Given the description of an element on the screen output the (x, y) to click on. 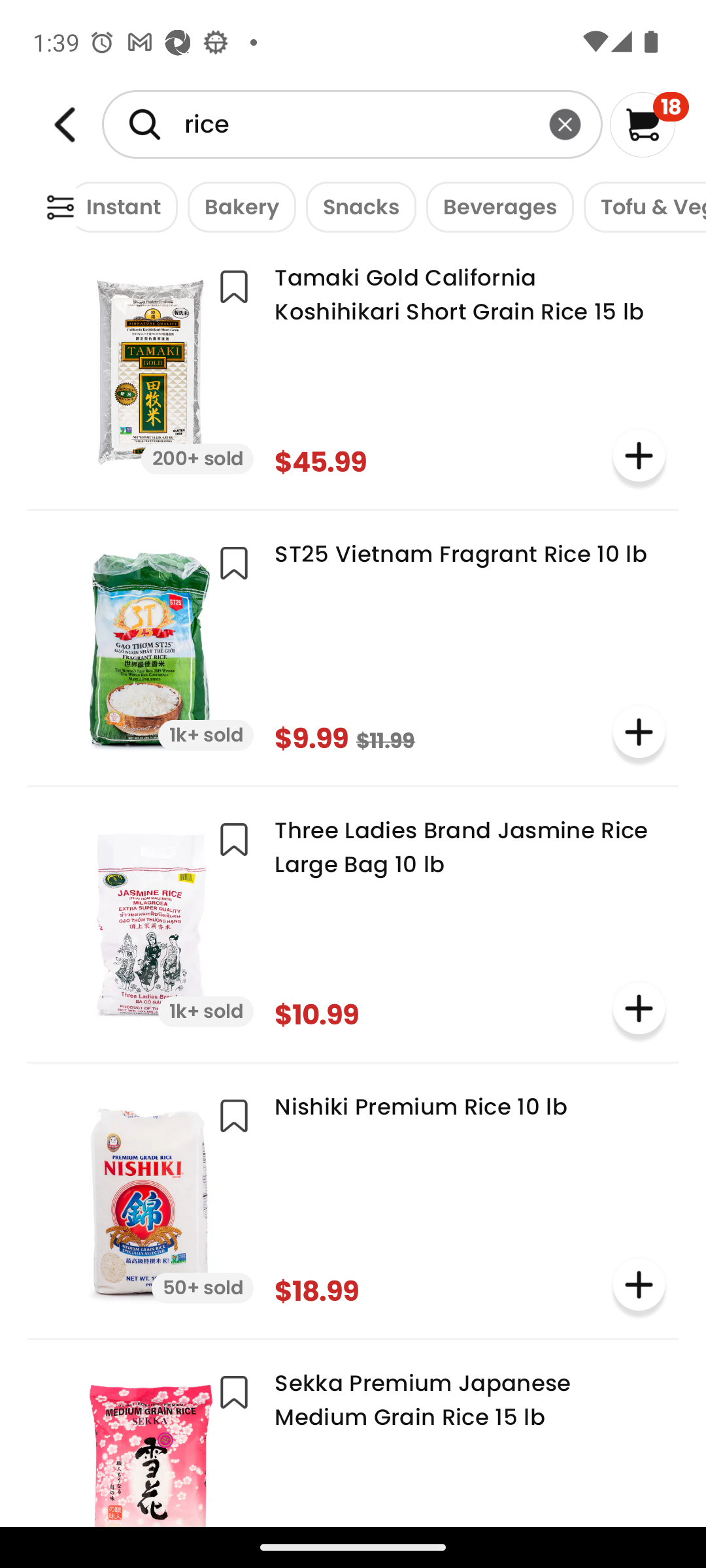
rice (351, 124)
18 (649, 124)
Weee! (60, 207)
Instant (118, 206)
Bakery (236, 206)
Snacks (355, 206)
Beverages (494, 206)
Tofu & Vegan (639, 206)
Nishiki Premium Rice 10 lb 50+ sold $18.99 (352, 1198)
Sekka Premium Japanese Medium Grain Rice 15 lb (352, 1440)
